Given the description of an element on the screen output the (x, y) to click on. 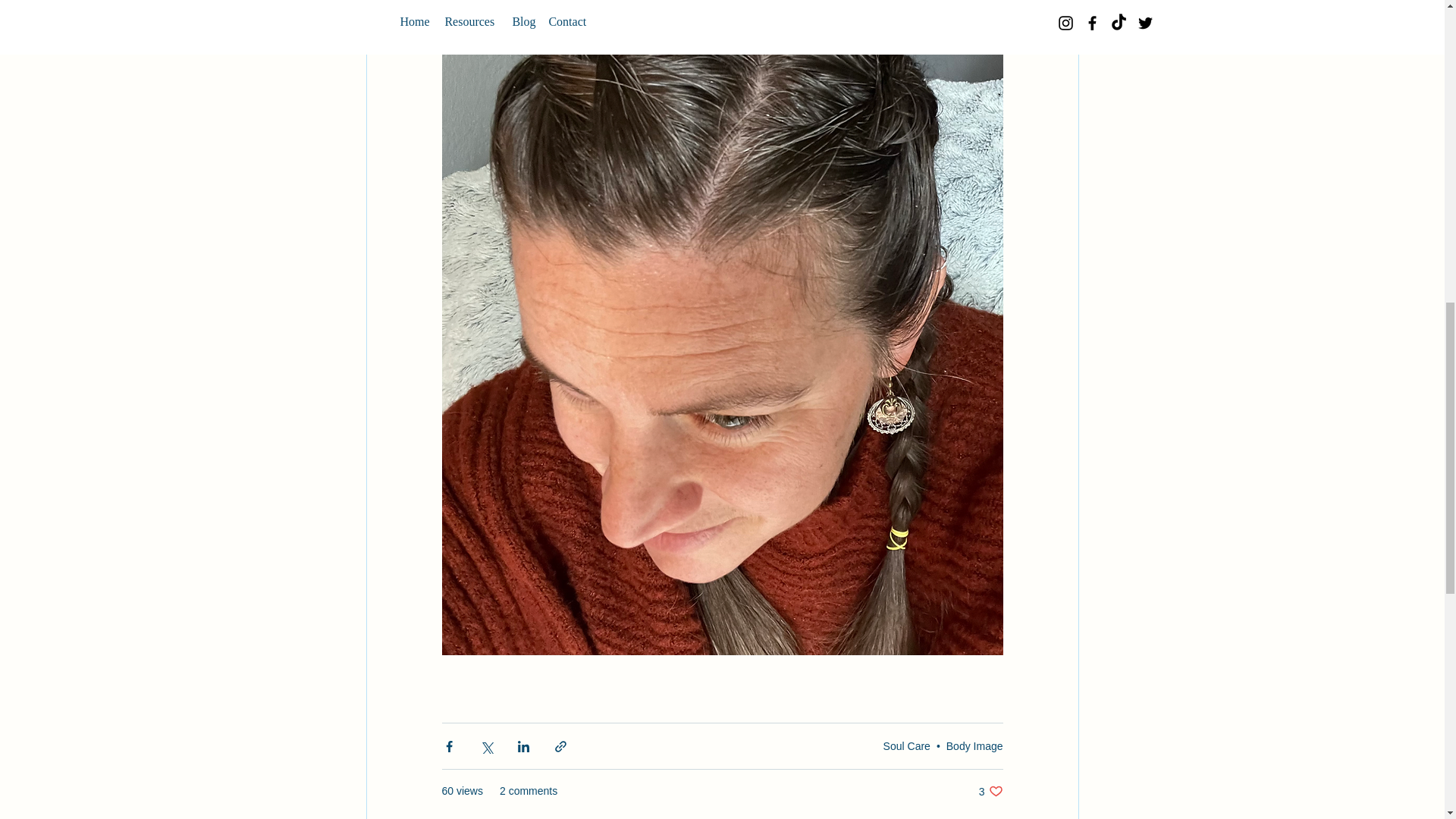
Soul Care (906, 746)
Body Image (974, 746)
